Given the description of an element on the screen output the (x, y) to click on. 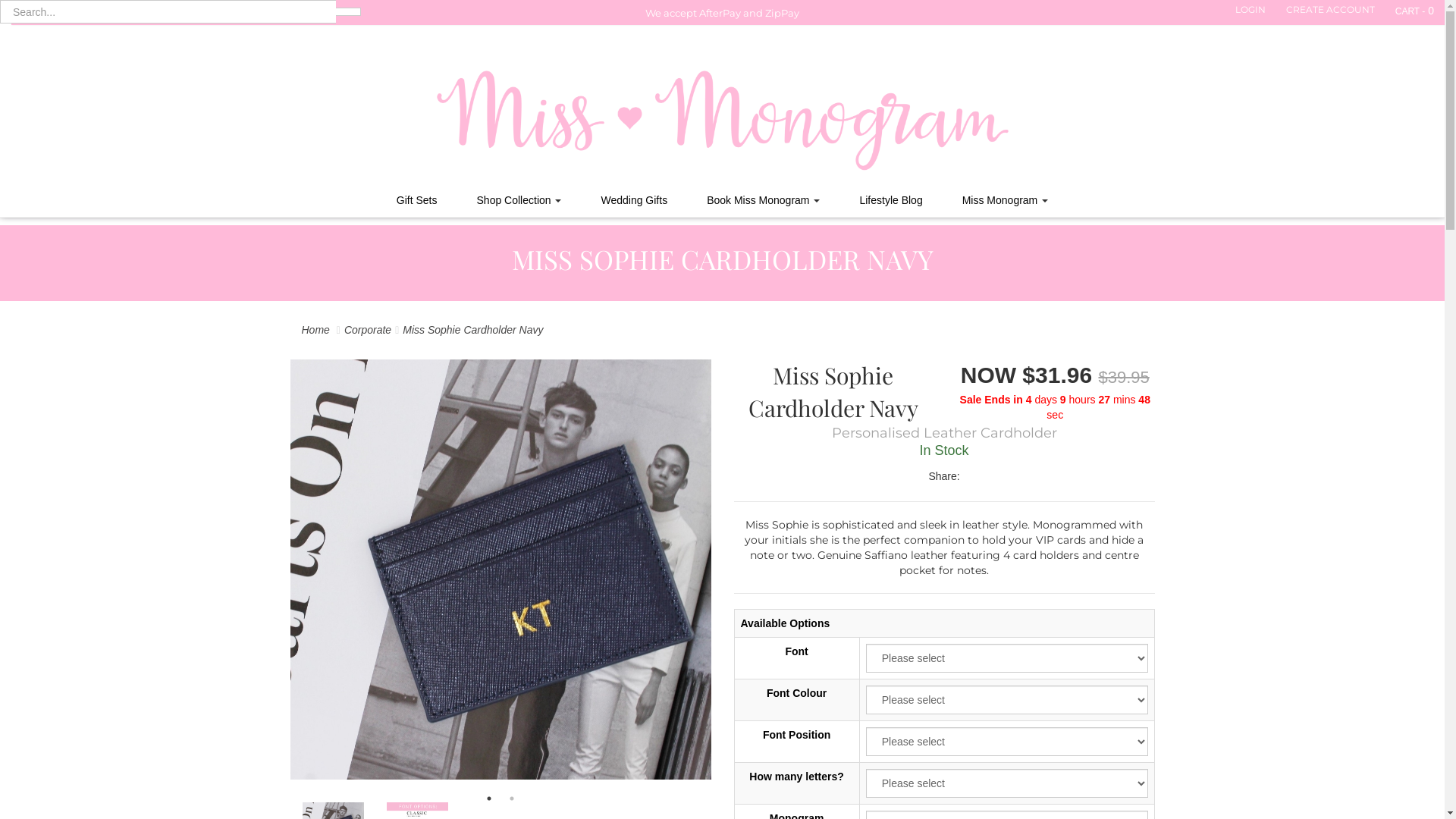
1 Element type: text (488, 798)
Wedding Gifts Element type: text (633, 200)
2 Element type: text (511, 798)
Miss Monogram Element type: text (1005, 200)
Home Element type: text (315, 329)
Lifestyle Blog Element type: text (890, 200)
Book Miss Monogram Element type: text (762, 200)
Miss Monogram Element type: hover (722, 107)
Shop Collection Element type: text (519, 200)
Corporate Element type: text (367, 329)
Gift Sets Element type: text (416, 200)
Search Element type: text (347, 11)
Miss Sophie Cardholder Navy Element type: text (472, 329)
